Given the description of an element on the screen output the (x, y) to click on. 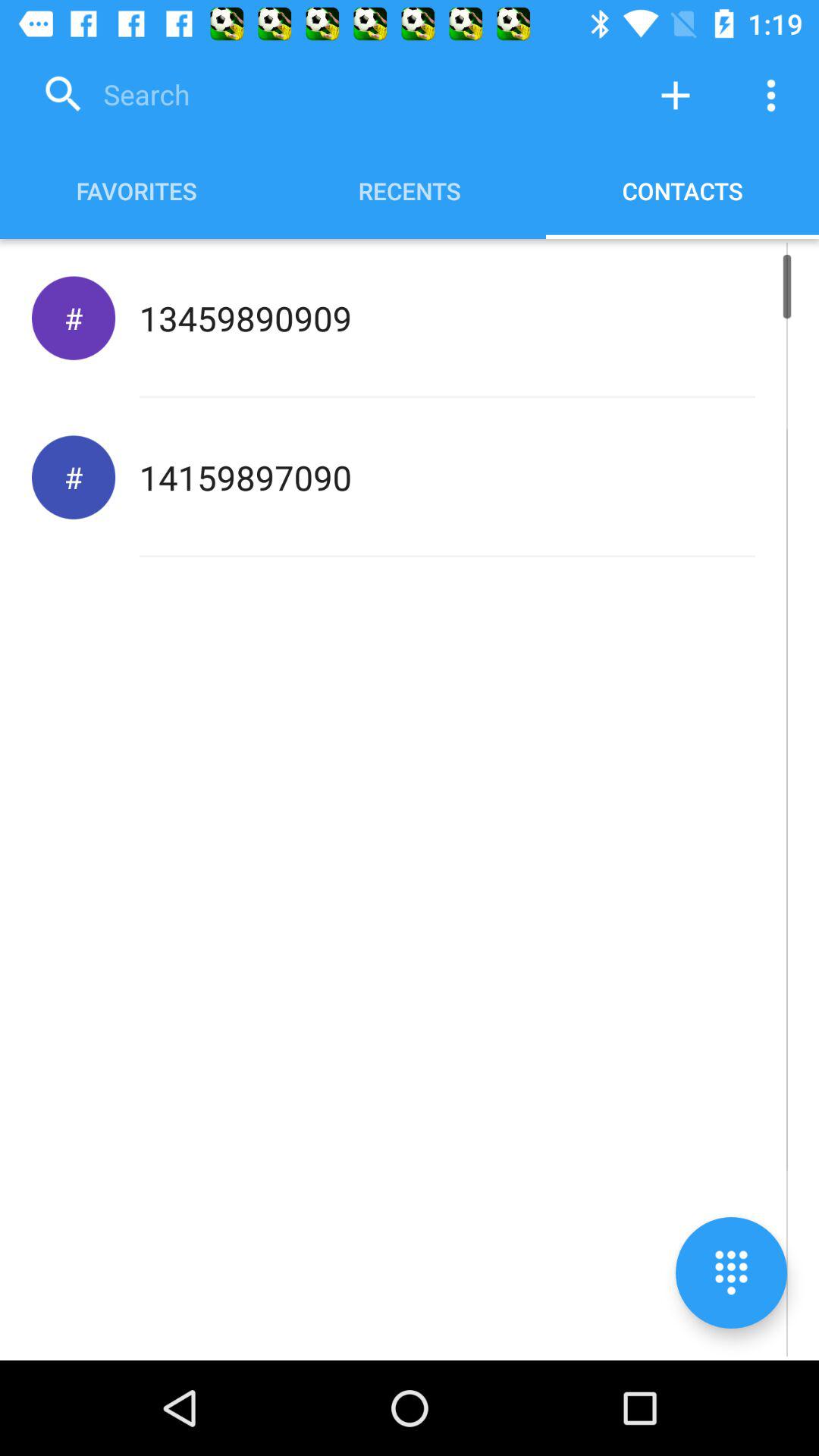
search contacts (329, 95)
